Given the description of an element on the screen output the (x, y) to click on. 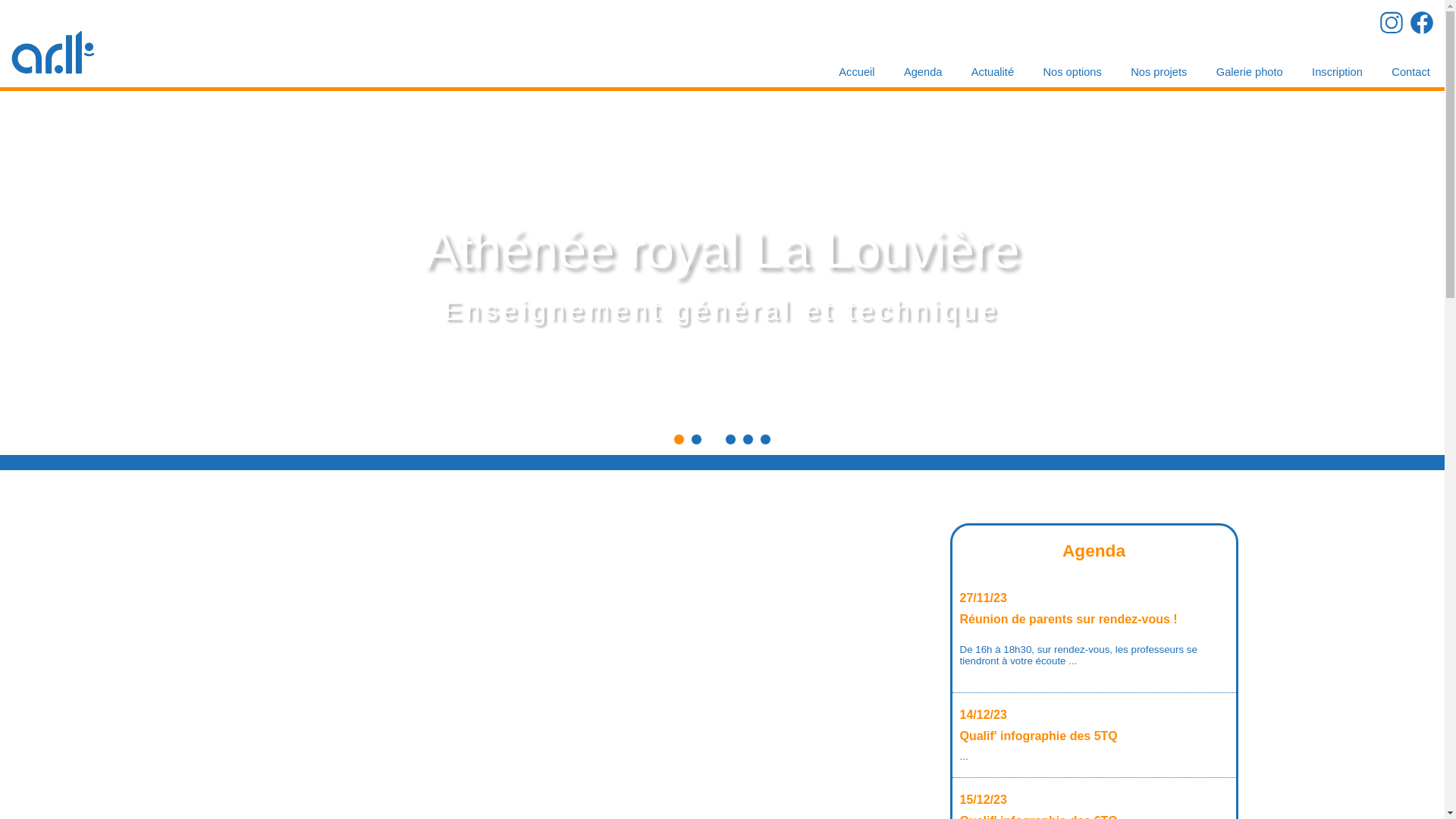
Nos options Element type: text (1072, 77)
Agenda Element type: text (923, 77)
14/12/23
Qualif' infographie des 5TQ
... Element type: text (1094, 735)
Galerie photo Element type: text (1249, 77)
Facebook Element type: hover (1421, 22)
Accueil Element type: text (856, 77)
Nos projets Element type: text (1158, 77)
Contact Element type: text (1410, 77)
Instagram Element type: hover (1391, 22)
Inscription Element type: text (1337, 77)
